Given the description of an element on the screen output the (x, y) to click on. 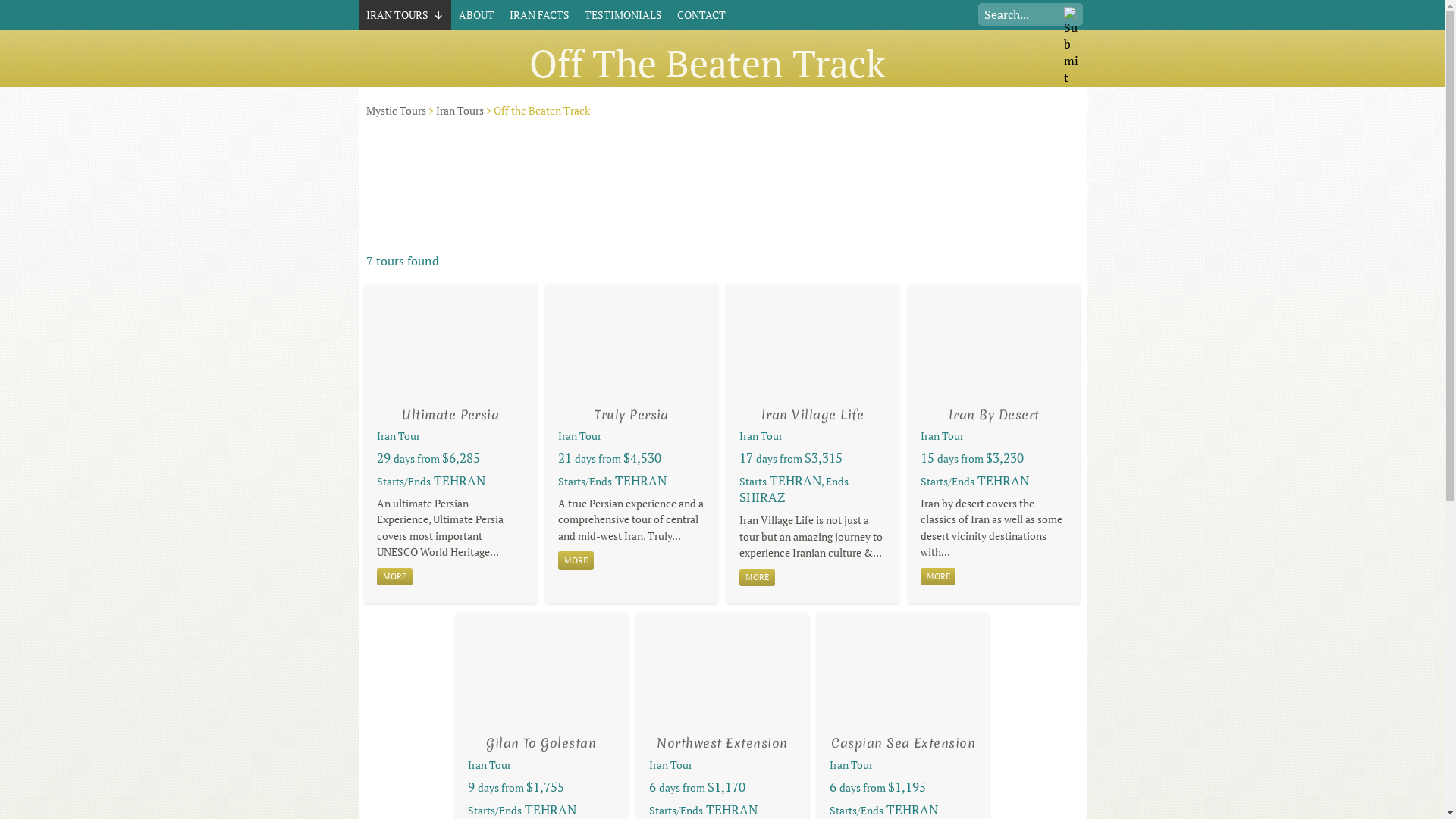
MORE Element type: text (757, 577)
info@mystictours.com.au Element type: text (873, 17)
Truly Persia Element type: text (631, 414)
Iran Village Life Element type: text (812, 414)
Gilan To Golestan Element type: text (541, 742)
IRAN TOURS Element type: text (403, 15)
Iran By Desert Element type: text (993, 414)
Caspian Sea Extension Element type: text (903, 742)
IRAN FACTS Element type: text (539, 15)
MORE Element type: text (938, 576)
CONTACT Element type: text (700, 15)
MORE Element type: text (575, 560)
Northwest Extension Element type: text (721, 742)
Iran Tours Element type: text (459, 110)
Ultimate Persia Element type: text (449, 414)
TESTIMONIALS Element type: text (622, 15)
Iran Tours. Tailor made & small group travel to Iran. Element type: hover (473, 101)
ABOUT Element type: text (475, 15)
Mystic Tours Element type: text (395, 110)
MORE Element type: text (394, 576)
